Given the description of an element on the screen output the (x, y) to click on. 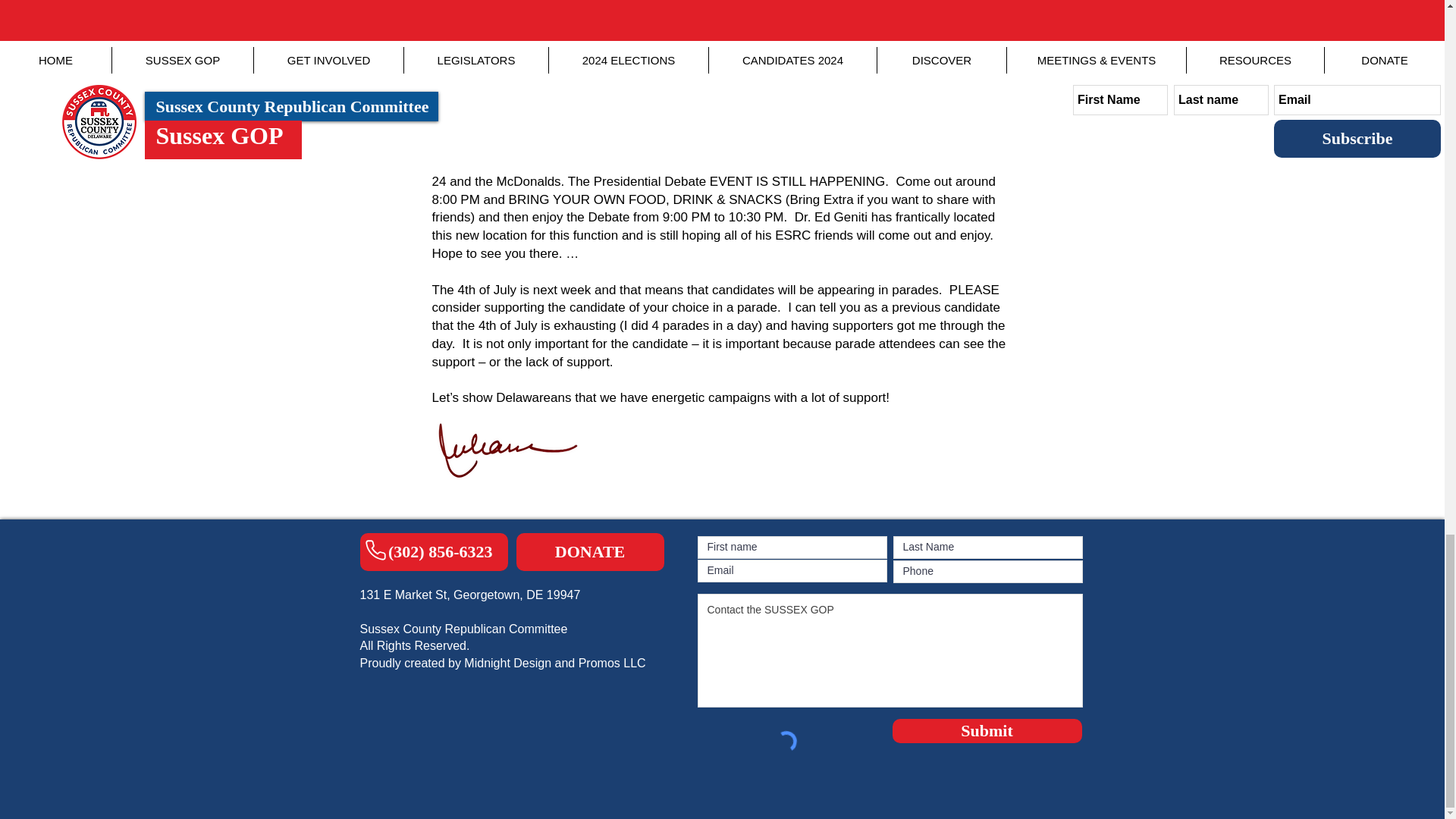
Summer Salts (564, 51)
